Given the description of an element on the screen output the (x, y) to click on. 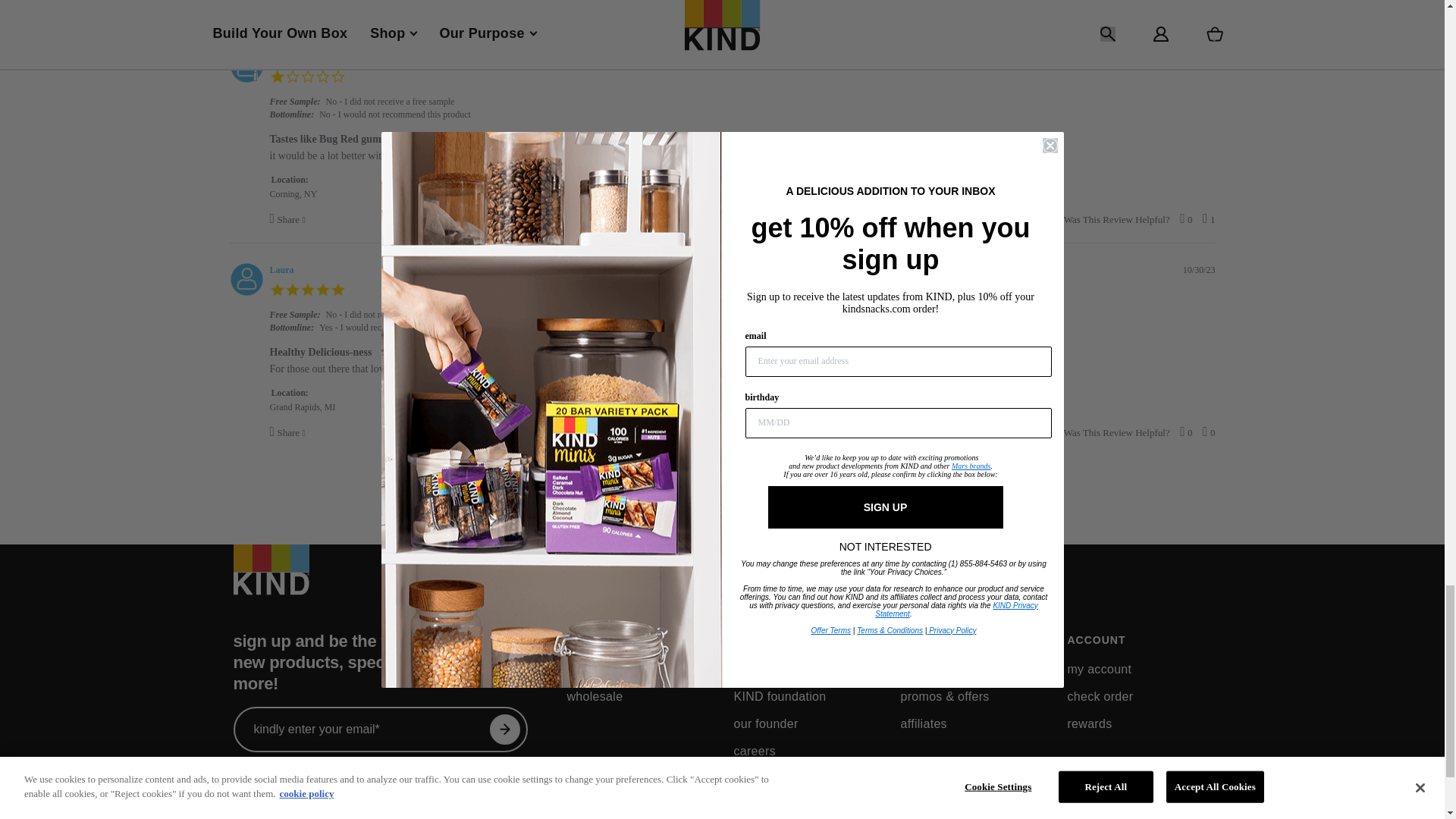
Wholesale (594, 696)
Go to Our Founder (765, 723)
Go to My Account (1099, 669)
Shop All Products (588, 669)
Go to Contact Us (948, 669)
Go to Careers (753, 751)
KIND foundation (763, 669)
Go to the Media Center (769, 778)
Go to About Us (805, 639)
KIND Snacks Home (270, 578)
Go to Check Order (1099, 696)
KIND foundation (779, 696)
